Given the description of an element on the screen output the (x, y) to click on. 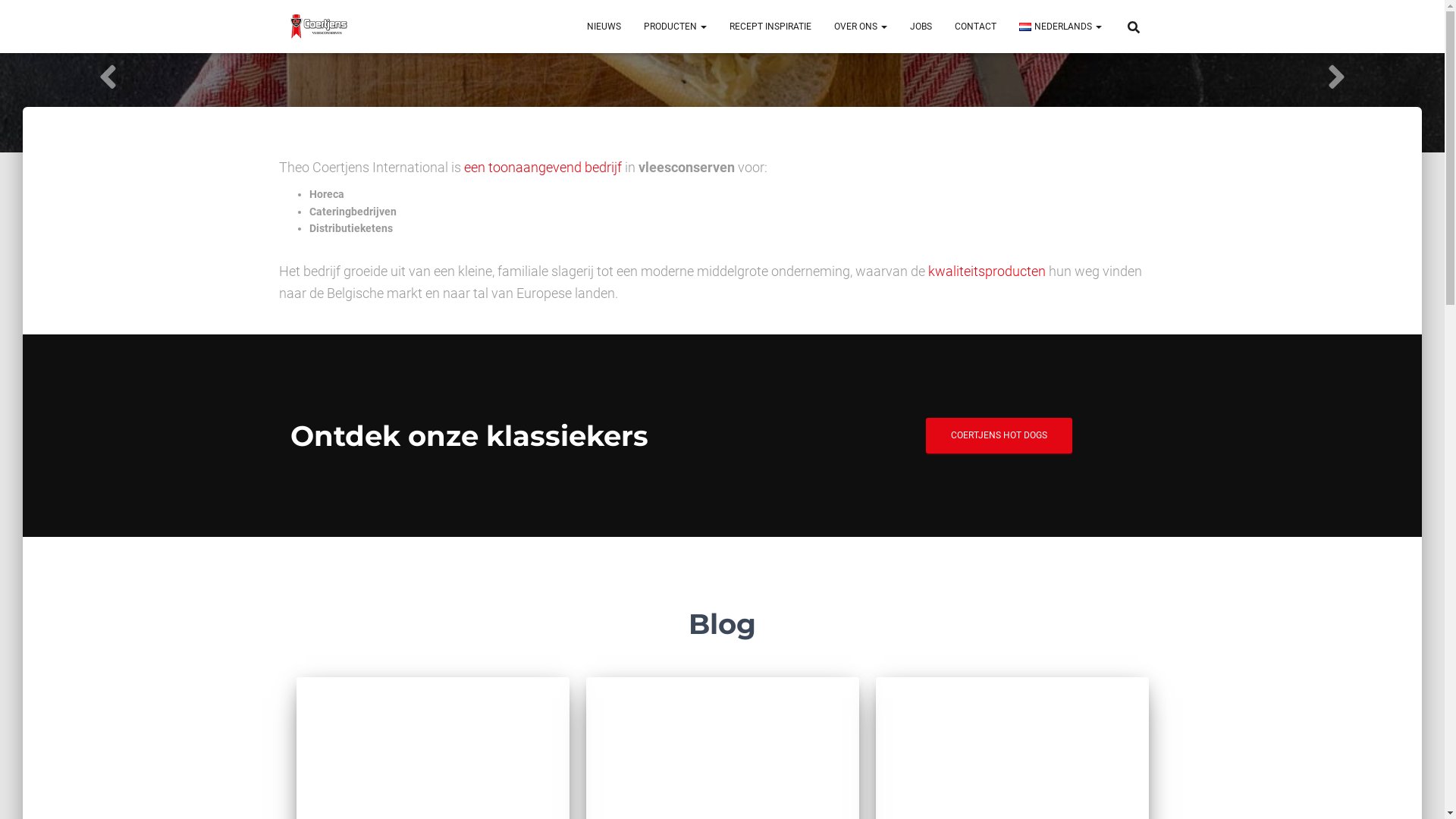
Coertjens International Element type: hover (318, 26)
een toonaangevend bedrijf Element type: text (542, 167)
CONTACT Element type: text (975, 26)
COERTJENS HOT DOGS Element type: text (998, 435)
NIEUWS Element type: text (603, 26)
NEDERLANDS Element type: text (1060, 26)
RECEPT INSPIRATIE Element type: text (770, 26)
PRODUCTEN Element type: text (675, 26)
OVER ONS Element type: text (860, 26)
JOBS Element type: text (920, 26)
Zoeken Element type: text (17, 16)
kwaliteitsproducten Element type: text (986, 271)
